Given the description of an element on the screen output the (x, y) to click on. 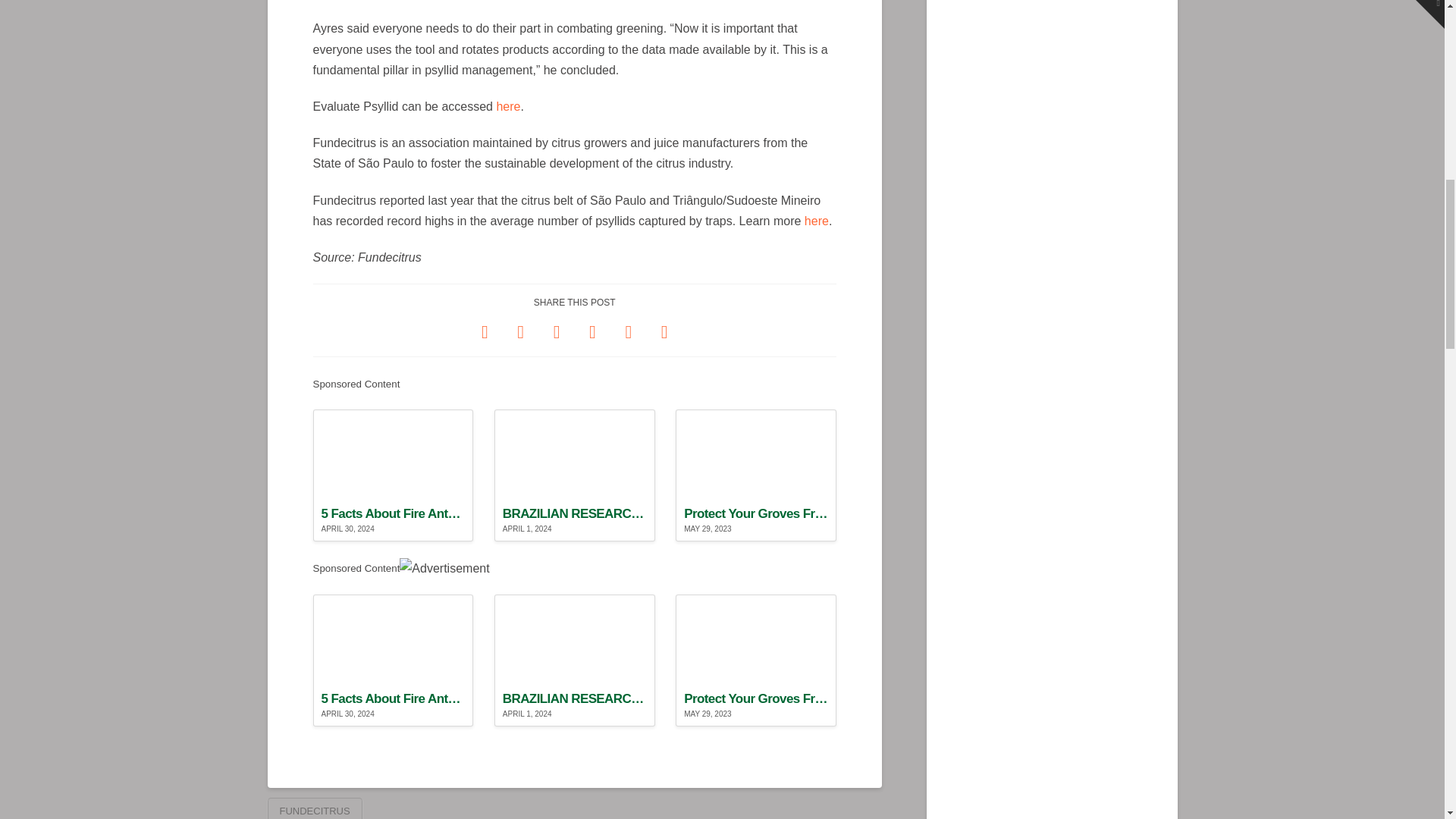
Share on Reddit (628, 331)
Permalink to: "Protect Your Groves From Citrus Leafminer" (755, 660)
Share on LinkedIn (556, 331)
Share on X (520, 331)
Share on Facebook (484, 331)
Permalink to: "Protect Your Groves From Citrus Leafminer" (755, 475)
